Given the description of an element on the screen output the (x, y) to click on. 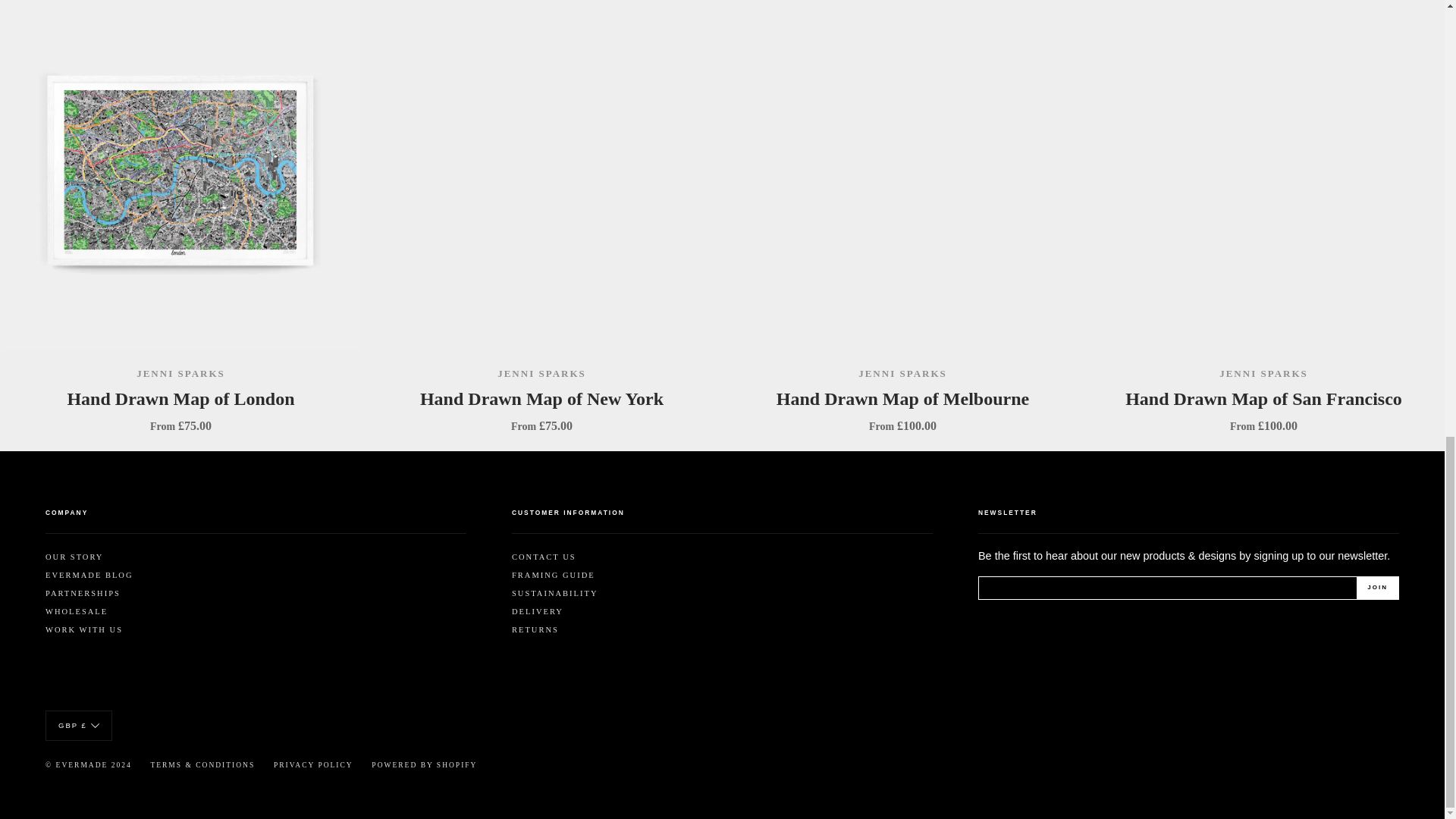
Join (1376, 587)
